Given the description of an element on the screen output the (x, y) to click on. 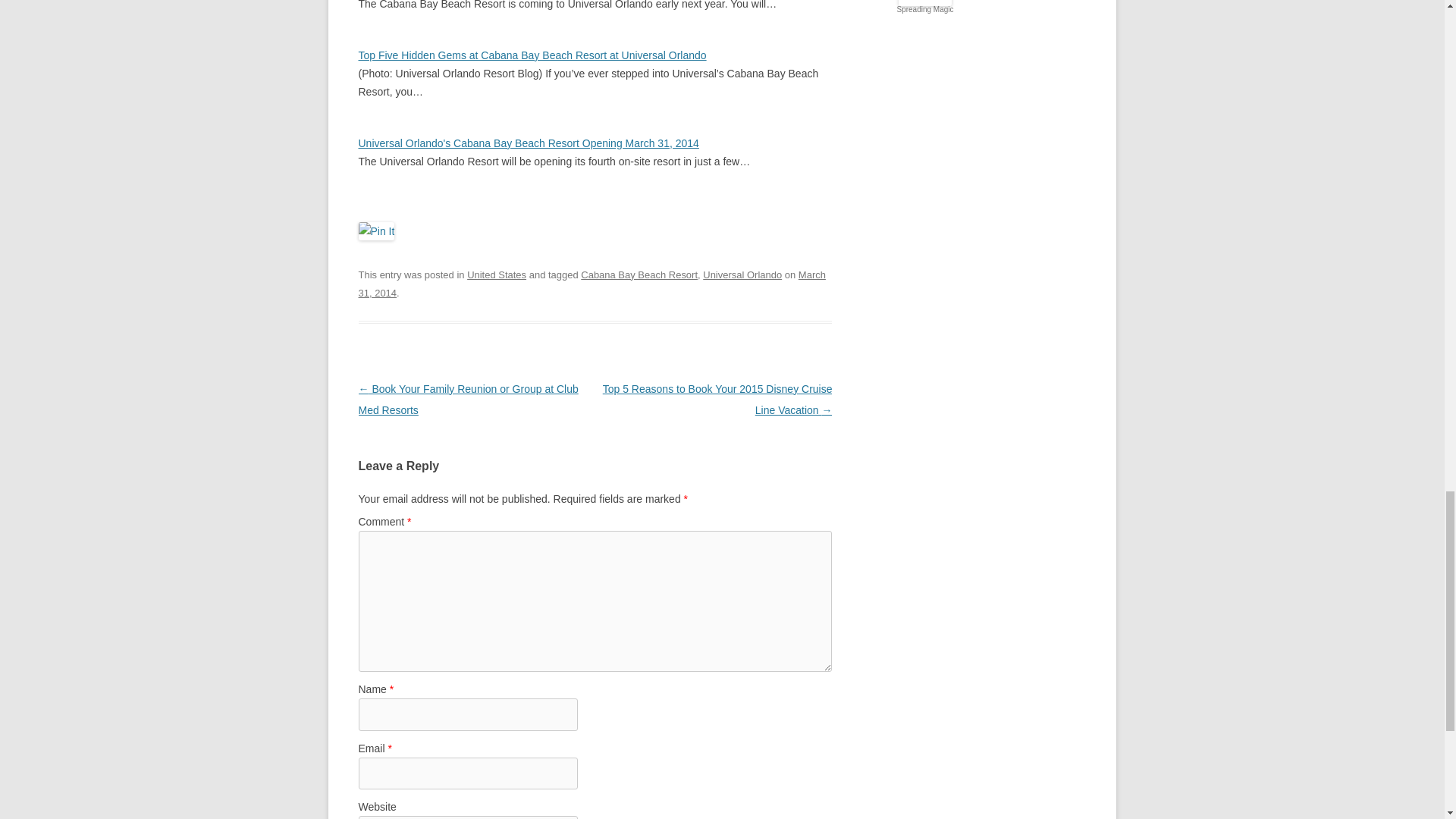
United States (496, 274)
Cabana Bay Beach Resort (638, 274)
7:00 pm (591, 283)
Pin It (376, 230)
Universal Orlando (742, 274)
March 31, 2014 (591, 283)
